Given the description of an element on the screen output the (x, y) to click on. 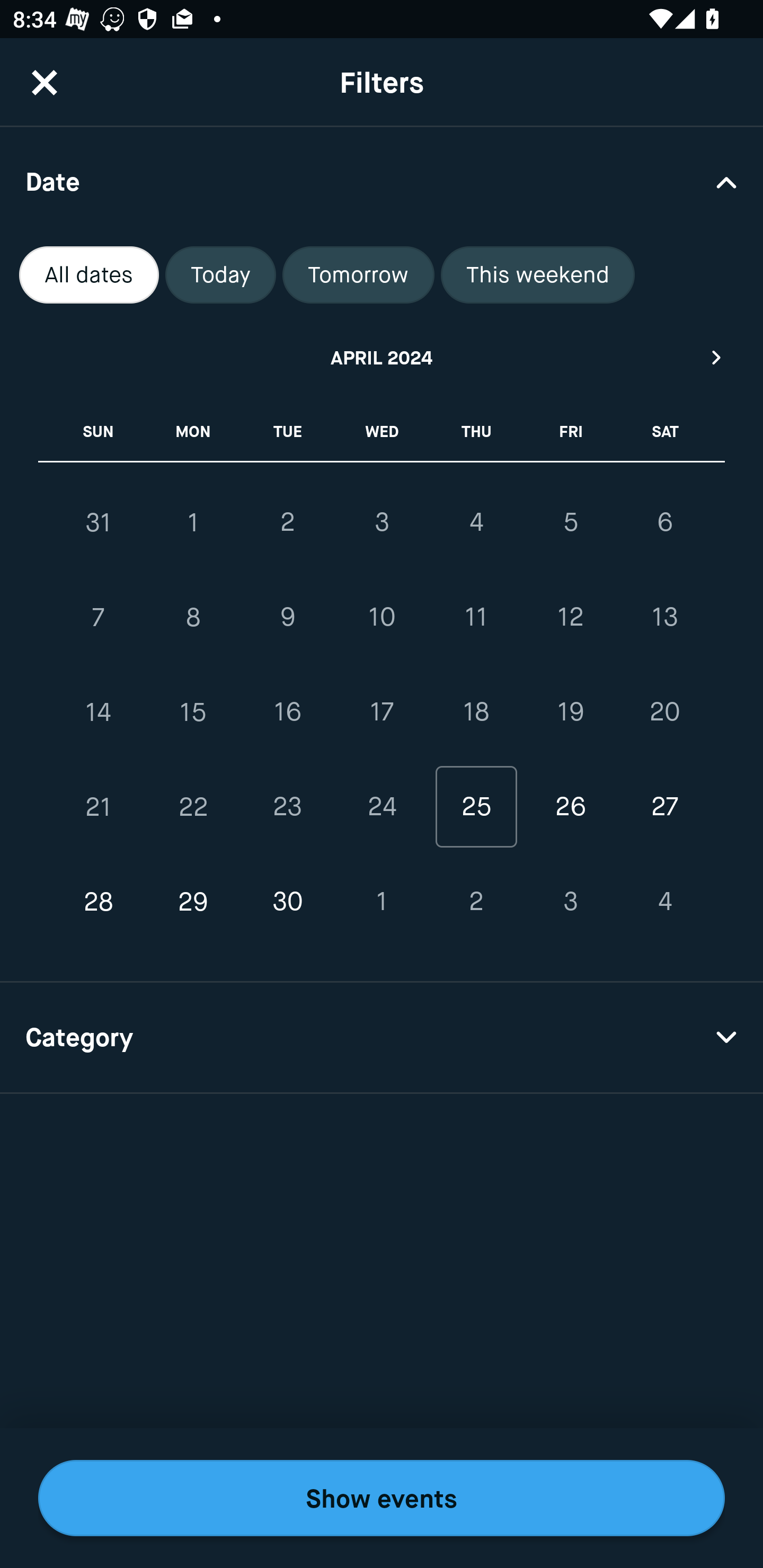
CloseButton (44, 82)
Date Drop Down Arrow (381, 181)
All dates (88, 274)
Today (220, 274)
Tomorrow (358, 274)
This weekend (537, 274)
Next (717, 357)
31 (98, 522)
1 (192, 522)
2 (287, 522)
3 (381, 522)
4 (475, 522)
5 (570, 522)
6 (664, 522)
7 (98, 617)
8 (192, 617)
9 (287, 617)
10 (381, 617)
11 (475, 617)
12 (570, 617)
13 (664, 617)
14 (98, 711)
15 (192, 711)
16 (287, 711)
17 (381, 711)
18 (475, 711)
19 (570, 711)
20 (664, 711)
21 (98, 806)
22 (192, 806)
23 (287, 806)
24 (381, 806)
25 (475, 806)
26 (570, 806)
27 (664, 806)
28 (98, 901)
29 (192, 901)
30 (287, 901)
1 (381, 901)
2 (475, 901)
3 (570, 901)
4 (664, 901)
Category Drop Down Arrow (381, 1038)
Show events (381, 1497)
